Given the description of an element on the screen output the (x, y) to click on. 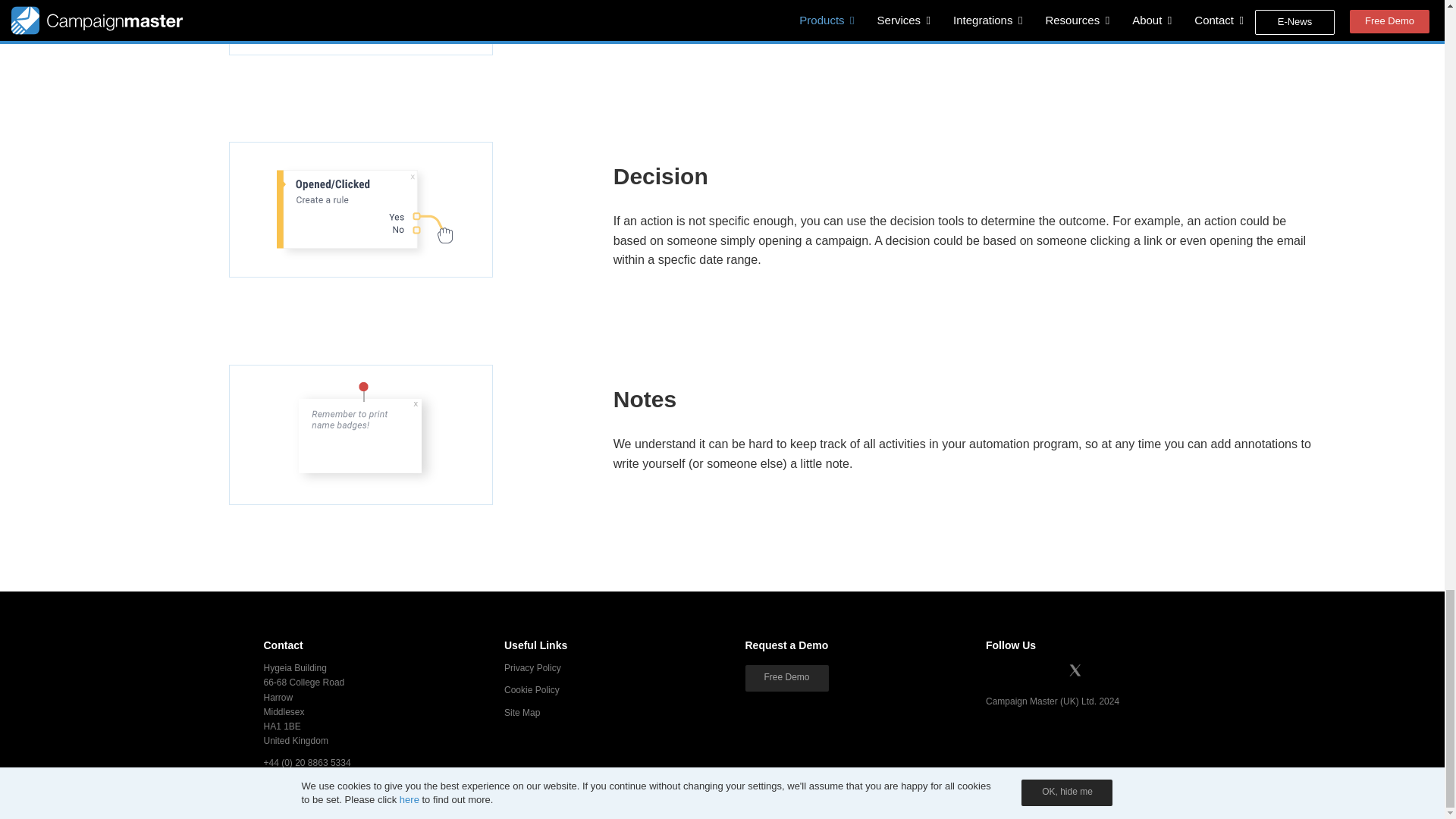
Automation Decision - Campaignmaster (360, 209)
Privacy Policy (531, 667)
Automation Delay - Campaignmaster (360, 28)
Automation Annotations - Campaignmaster (360, 434)
